Given the description of an element on the screen output the (x, y) to click on. 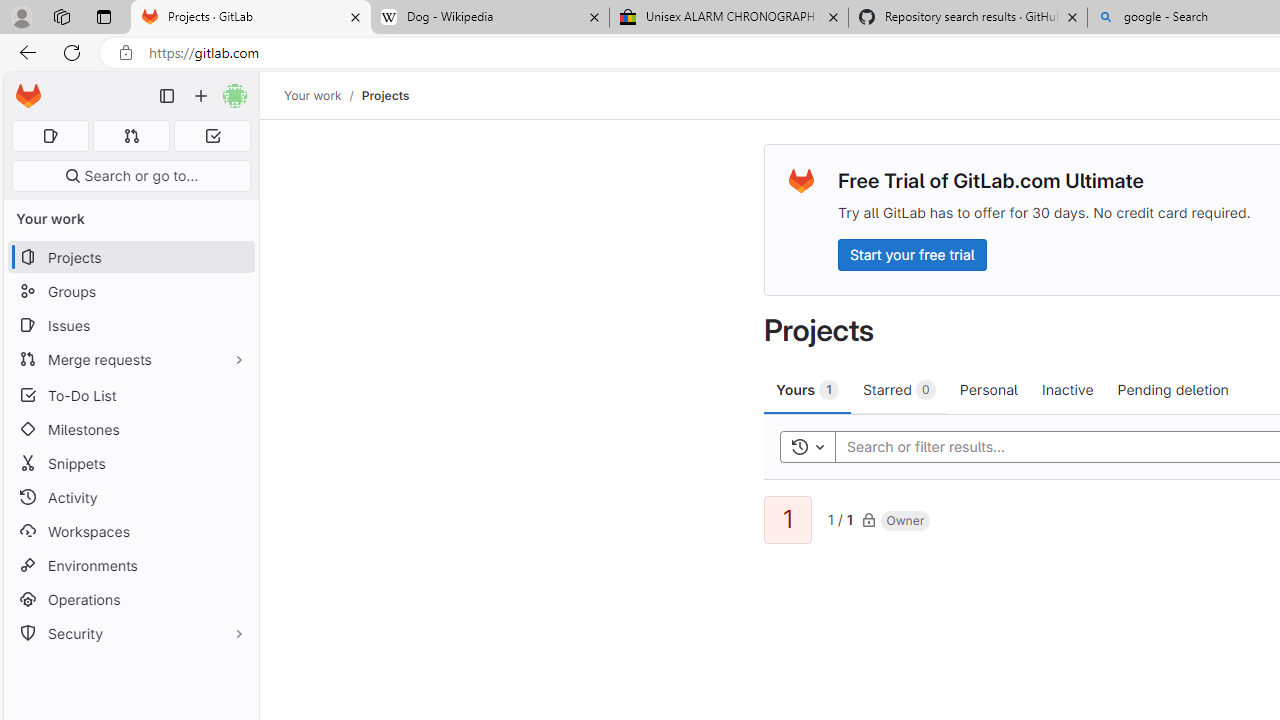
Class: s16 (868, 519)
Snippets (130, 463)
Operations (130, 599)
Environments (130, 564)
Personal (988, 389)
Issues (130, 325)
Starred 0 (899, 389)
Snippets (130, 463)
Issues (130, 325)
Environments (130, 564)
Milestones (130, 429)
Security (130, 633)
